Given the description of an element on the screen output the (x, y) to click on. 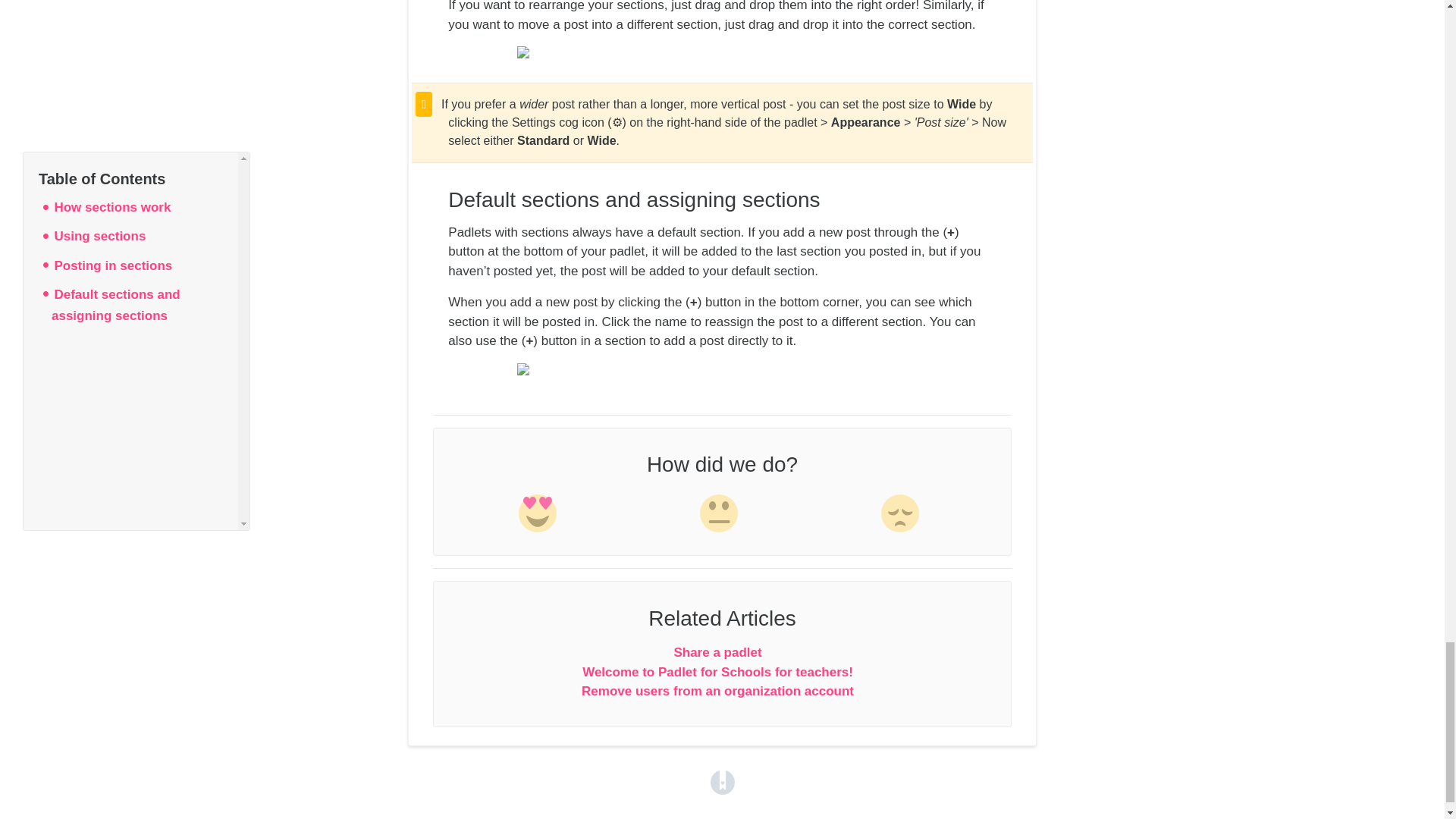
Powered by HelpDocs (721, 780)
